Given the description of an element on the screen output the (x, y) to click on. 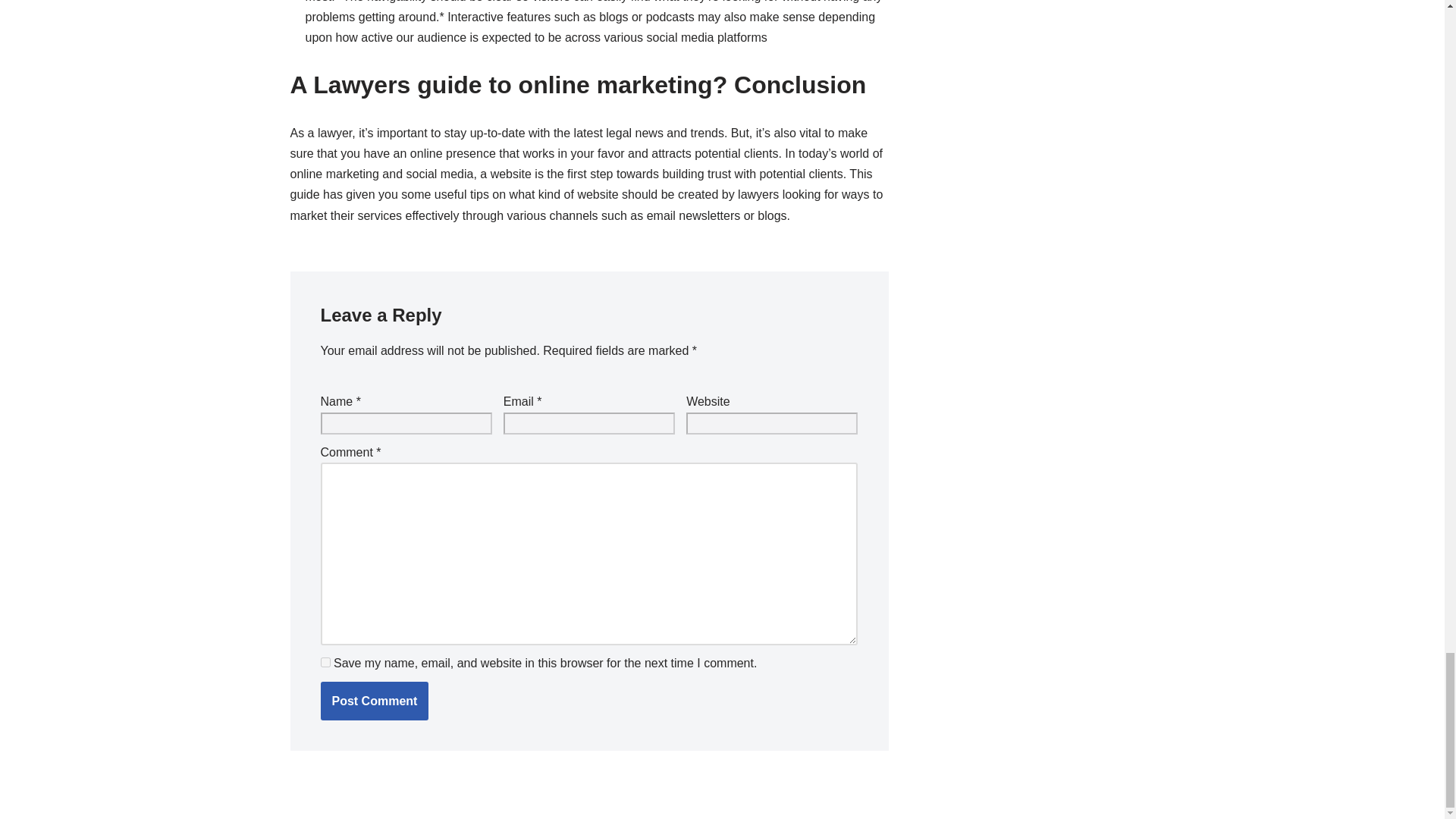
Post Comment (374, 701)
Post Comment (374, 701)
yes (325, 662)
